Given the description of an element on the screen output the (x, y) to click on. 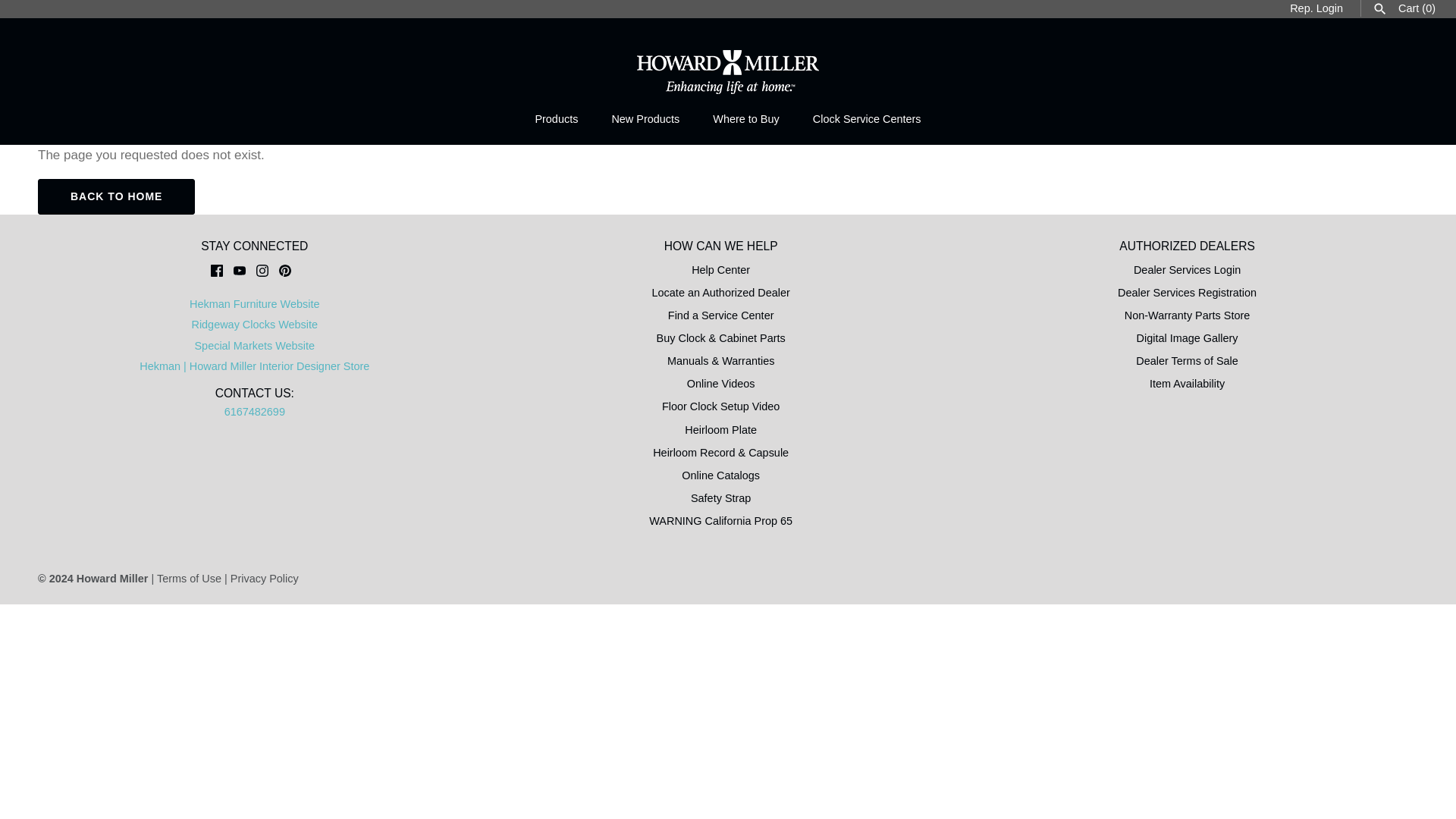
Youtube (239, 270)
Pinterest (285, 270)
Products (556, 119)
Instagram (261, 270)
Rep. Login (1316, 8)
Facebook (216, 270)
